Given the description of an element on the screen output the (x, y) to click on. 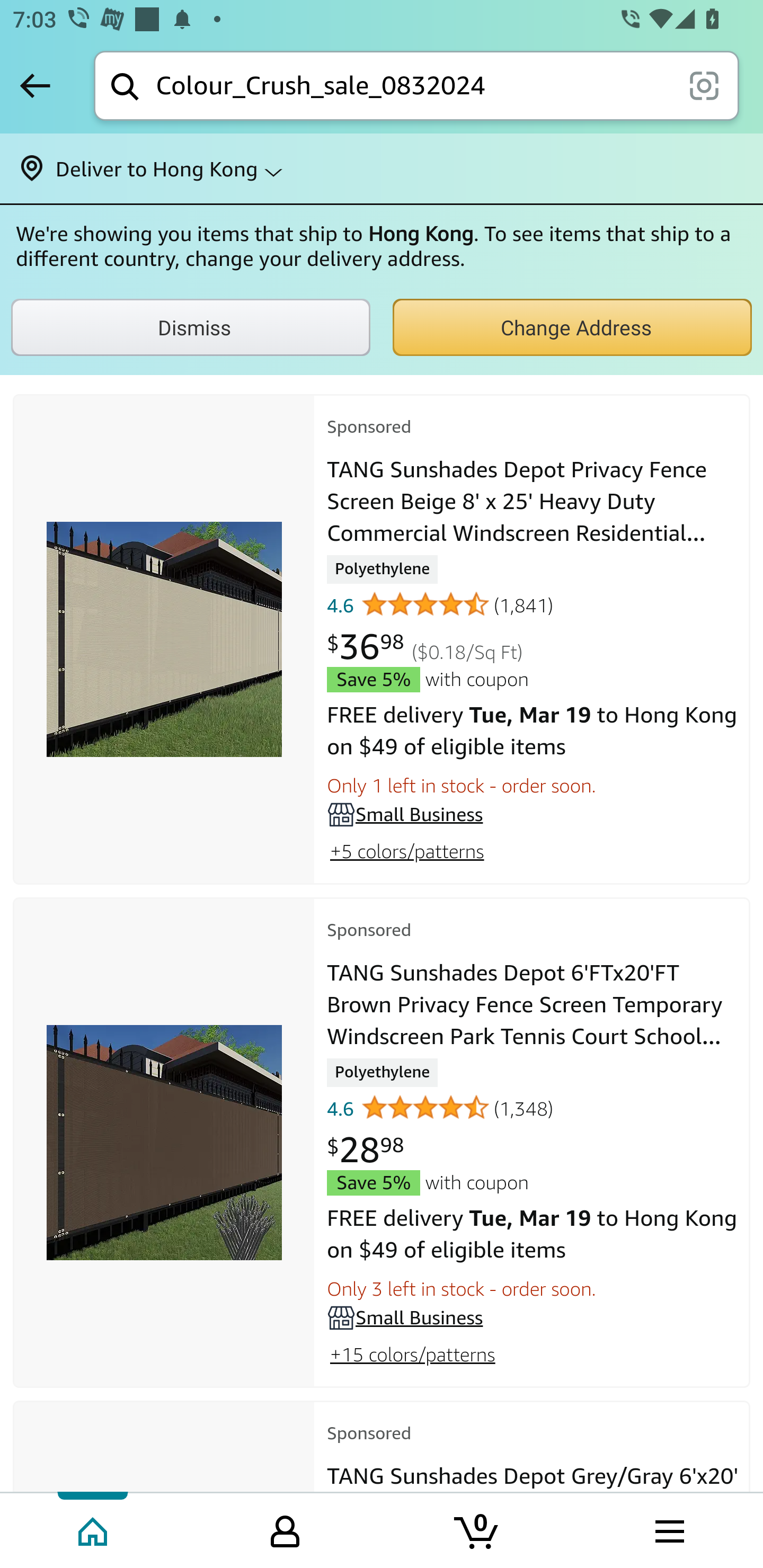
Back (35, 85)
Search Search Colour_Crush_sale_0832024 scan it (416, 85)
scan it (704, 85)
Deliver to Hong Kong ⌵ (381, 168)
Dismiss (190, 327)
Change Address (571, 327)
+5 colors/patterns (406, 850)
+15 colors/patterns (411, 1354)
Home Tab 1 of 4 (94, 1529)
Your Amazon.com Tab 2 of 4 (285, 1529)
Cart 0 item Tab 3 of 4 0 (477, 1529)
Browse menu Tab 4 of 4 (668, 1529)
